Given the description of an element on the screen output the (x, y) to click on. 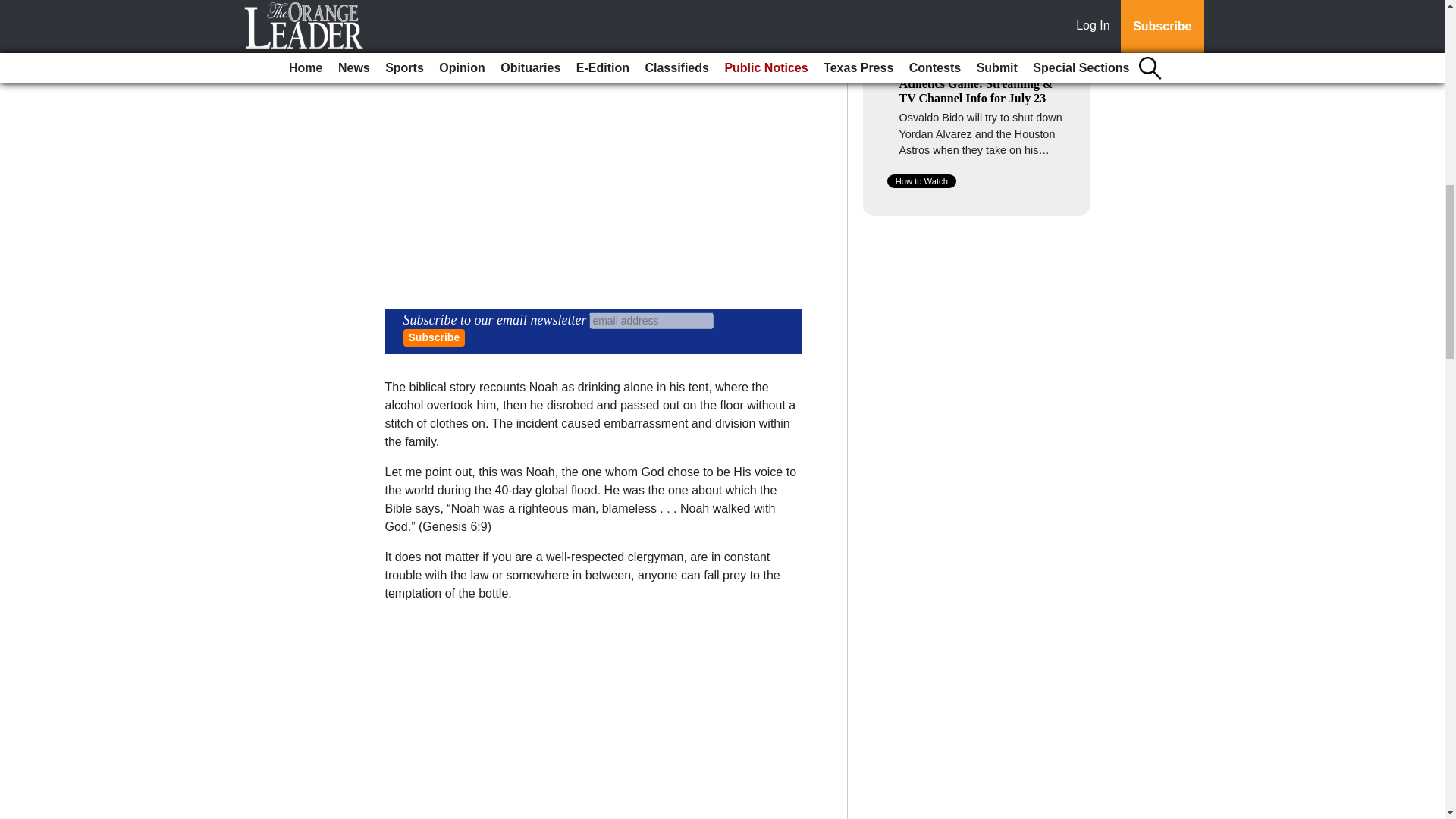
Subscribe (434, 337)
Subscribe (434, 337)
